Given the description of an element on the screen output the (x, y) to click on. 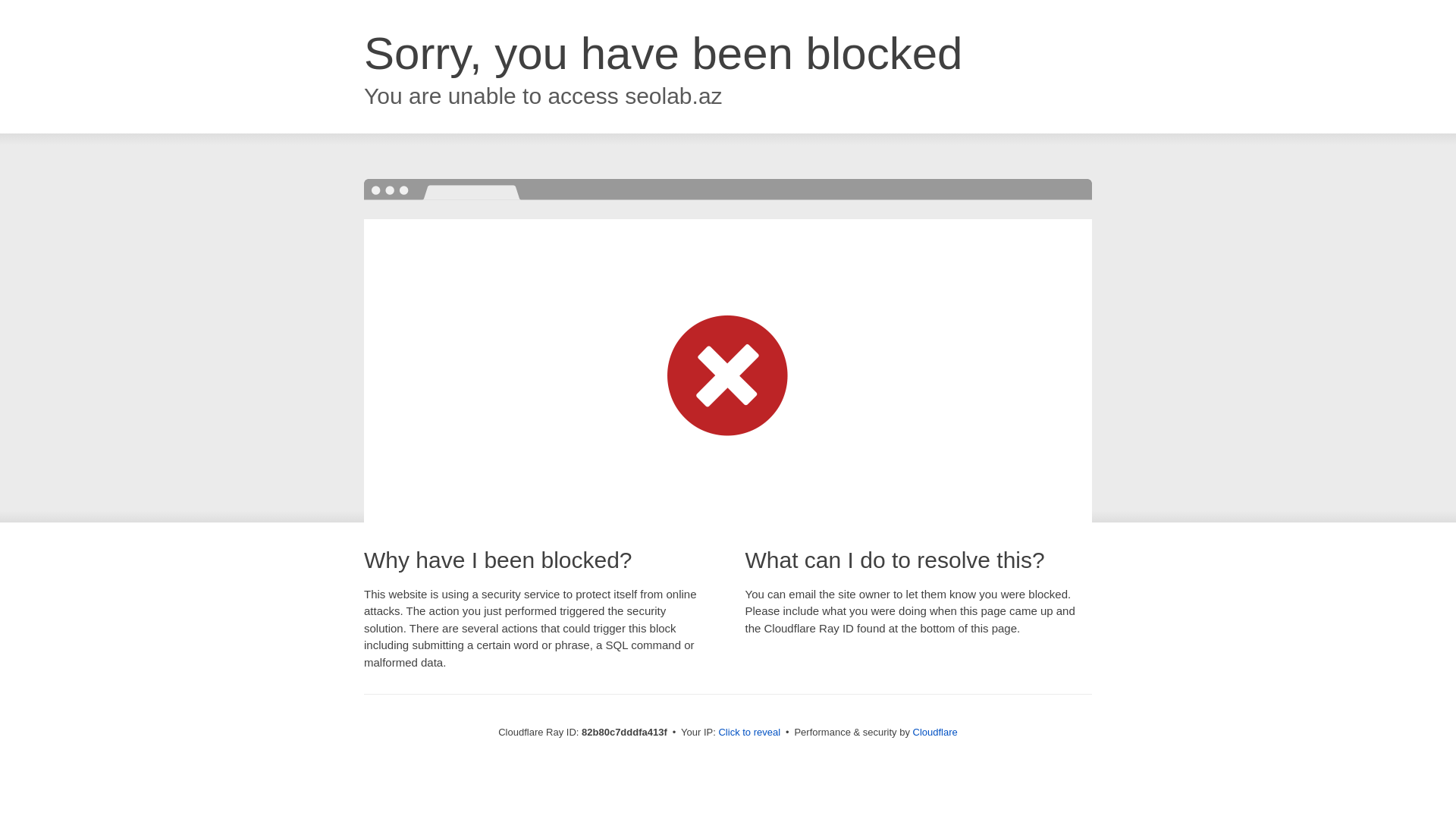
Click to reveal Element type: text (749, 732)
Cloudflare Element type: text (935, 731)
